Given the description of an element on the screen output the (x, y) to click on. 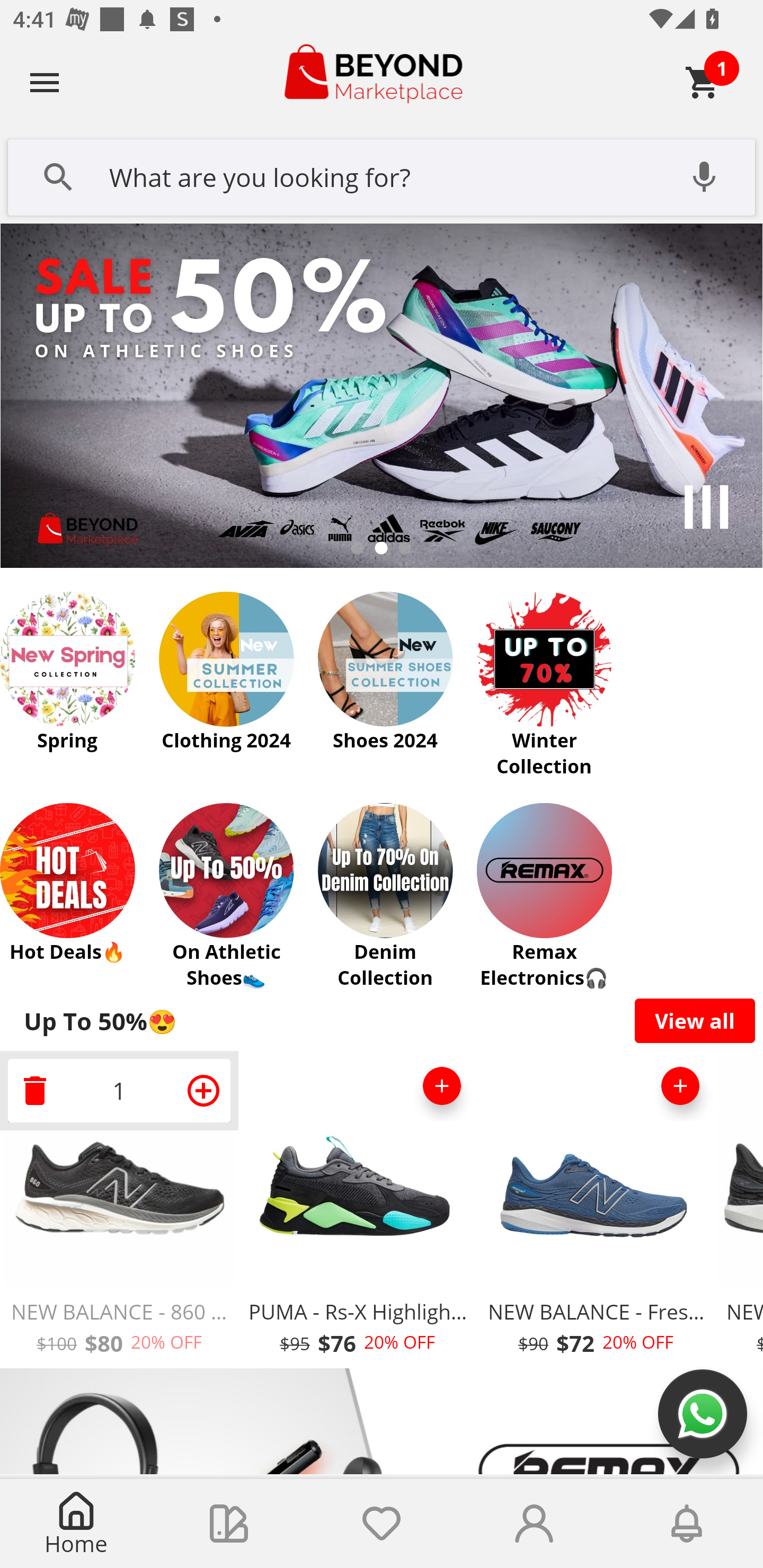
Navigate up (44, 82)
What are you looking for? (381, 175)
View all (694, 1020)
1 NEW BALANCE - 860 Running Shoes $100 $80 20% OFF (119, 1209)
Collections (228, 1523)
Wishlist (381, 1523)
Account (533, 1523)
Notifications (686, 1523)
